Given the description of an element on the screen output the (x, y) to click on. 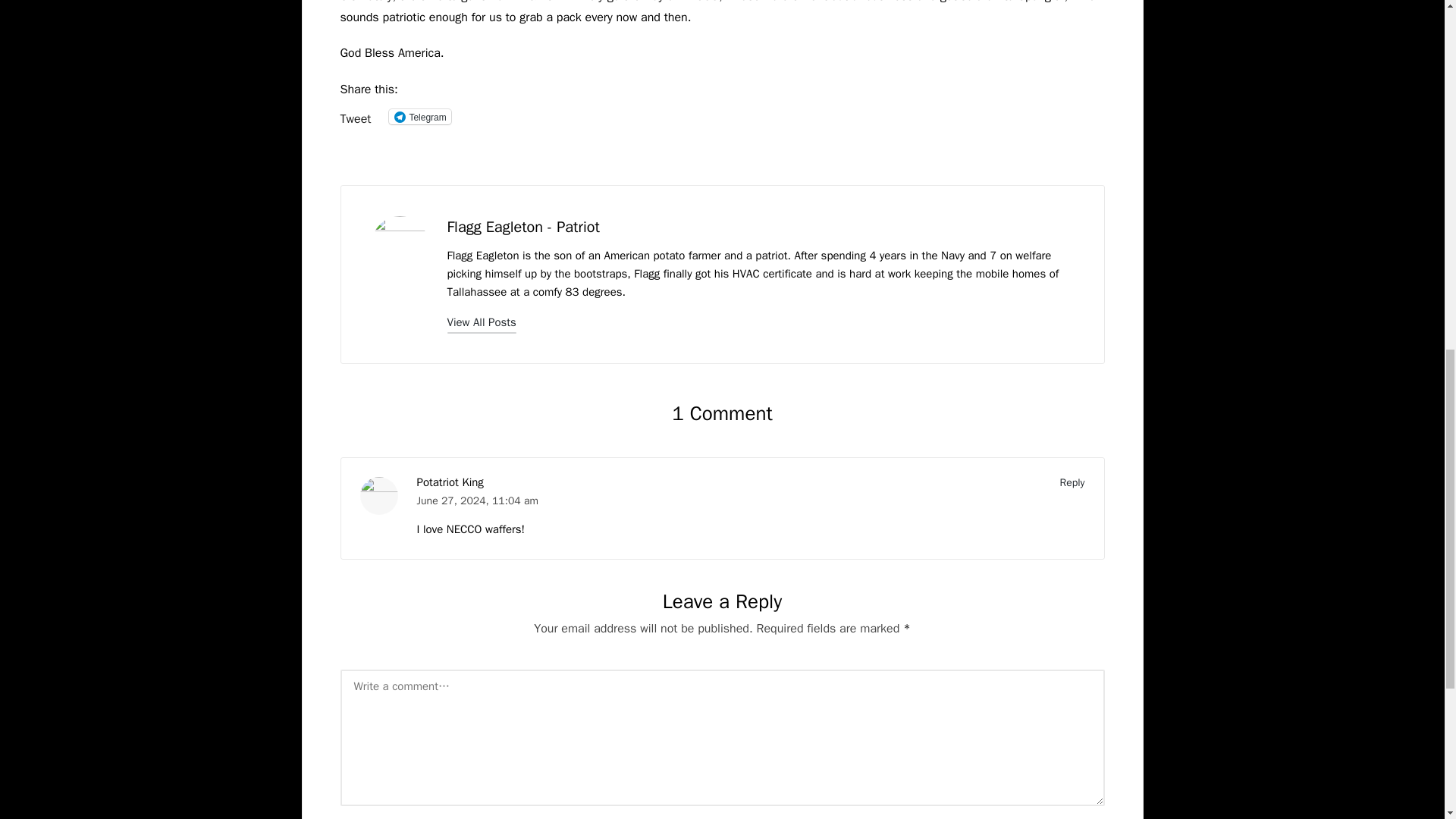
Flagg Eagleton - Patriot (522, 226)
Tweet (355, 115)
Telegram (418, 116)
View All Posts (481, 322)
11:04 am (515, 500)
Potatriot King (449, 481)
Click to share on Telegram (418, 116)
Reply (1071, 481)
